Given the description of an element on the screen output the (x, y) to click on. 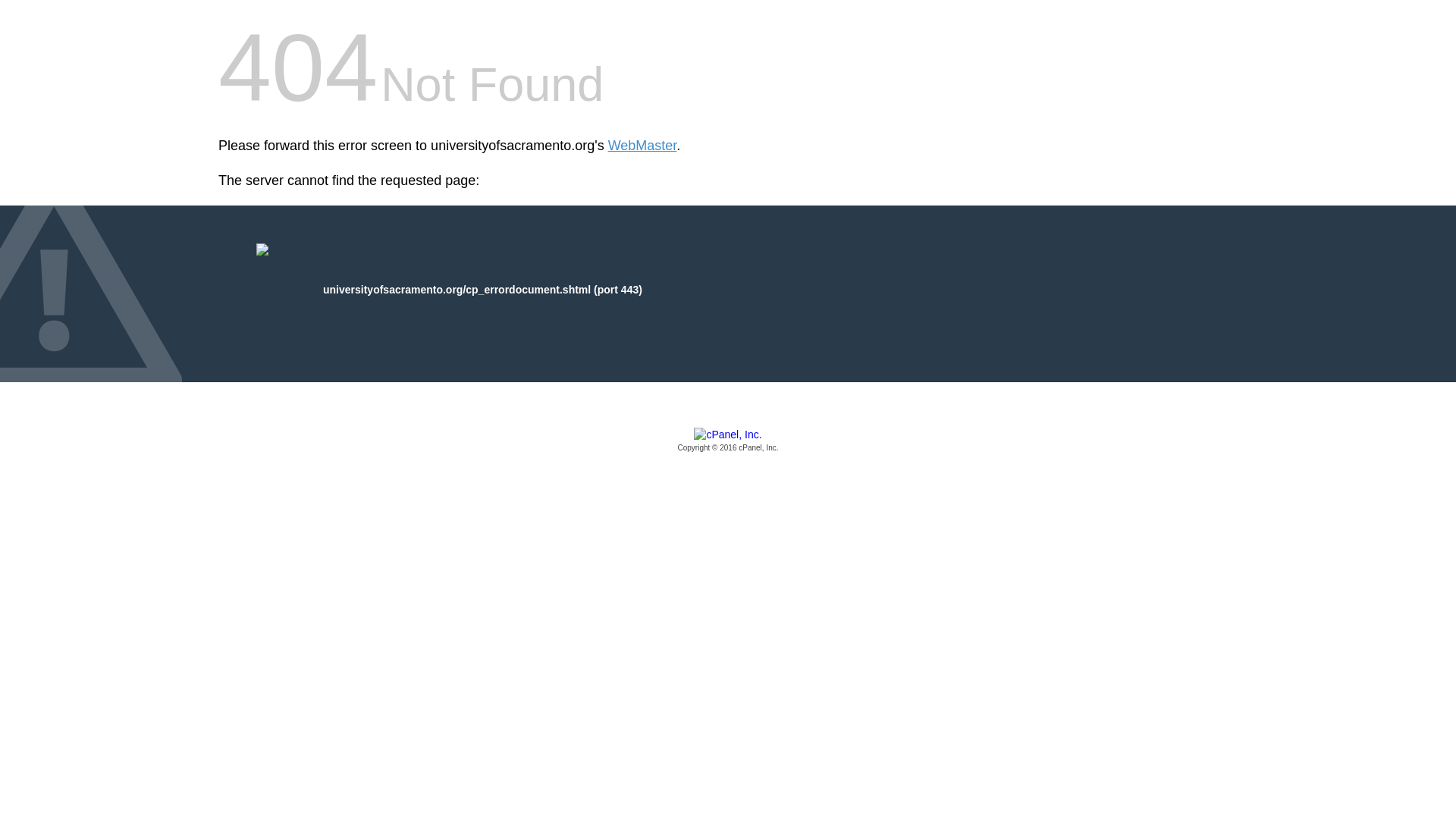
cPanel, Inc. (727, 440)
WebMaster (642, 145)
